Given the description of an element on the screen output the (x, y) to click on. 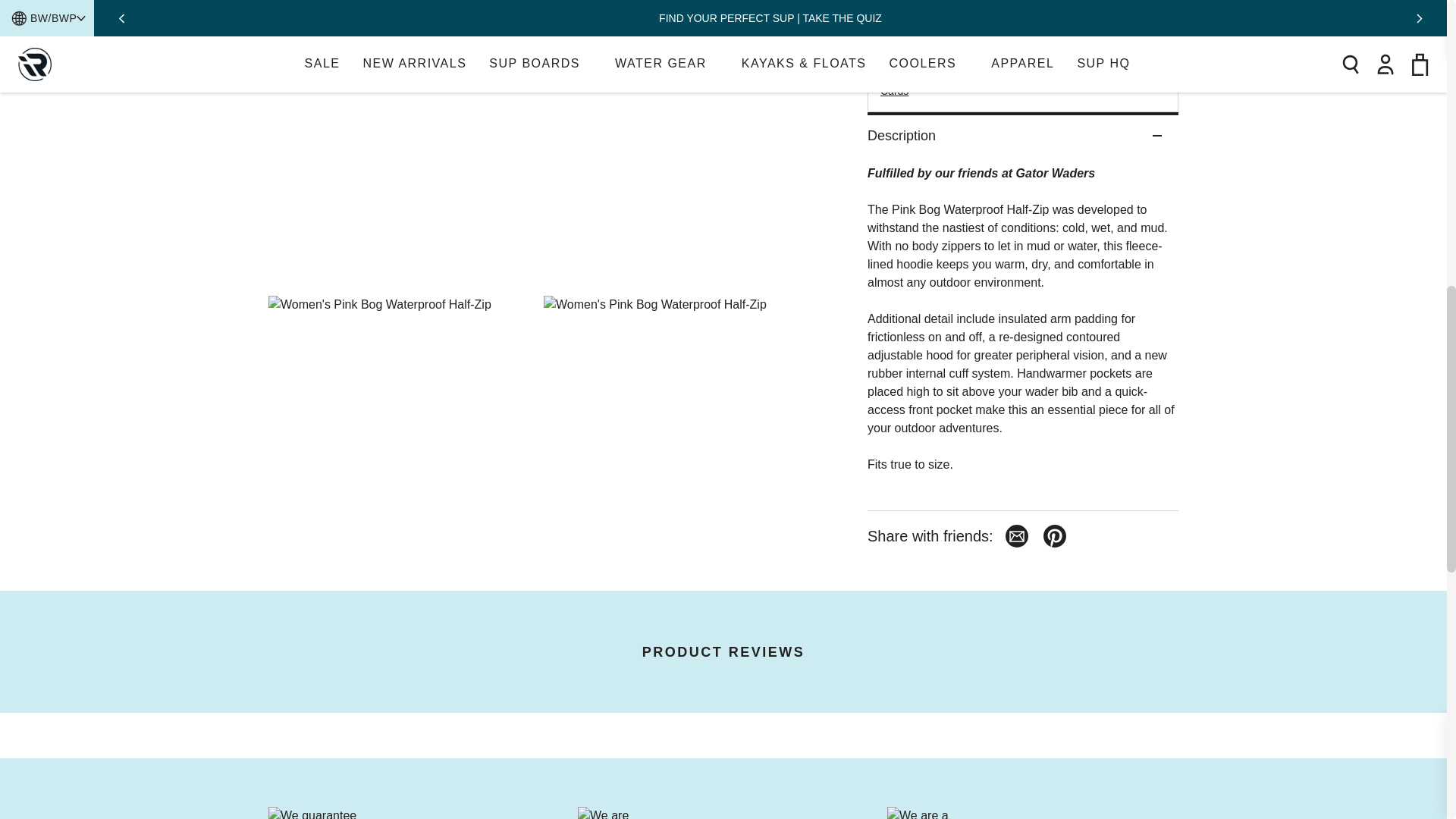
email (1016, 201)
pinterest (1054, 201)
